Given the description of an element on the screen output the (x, y) to click on. 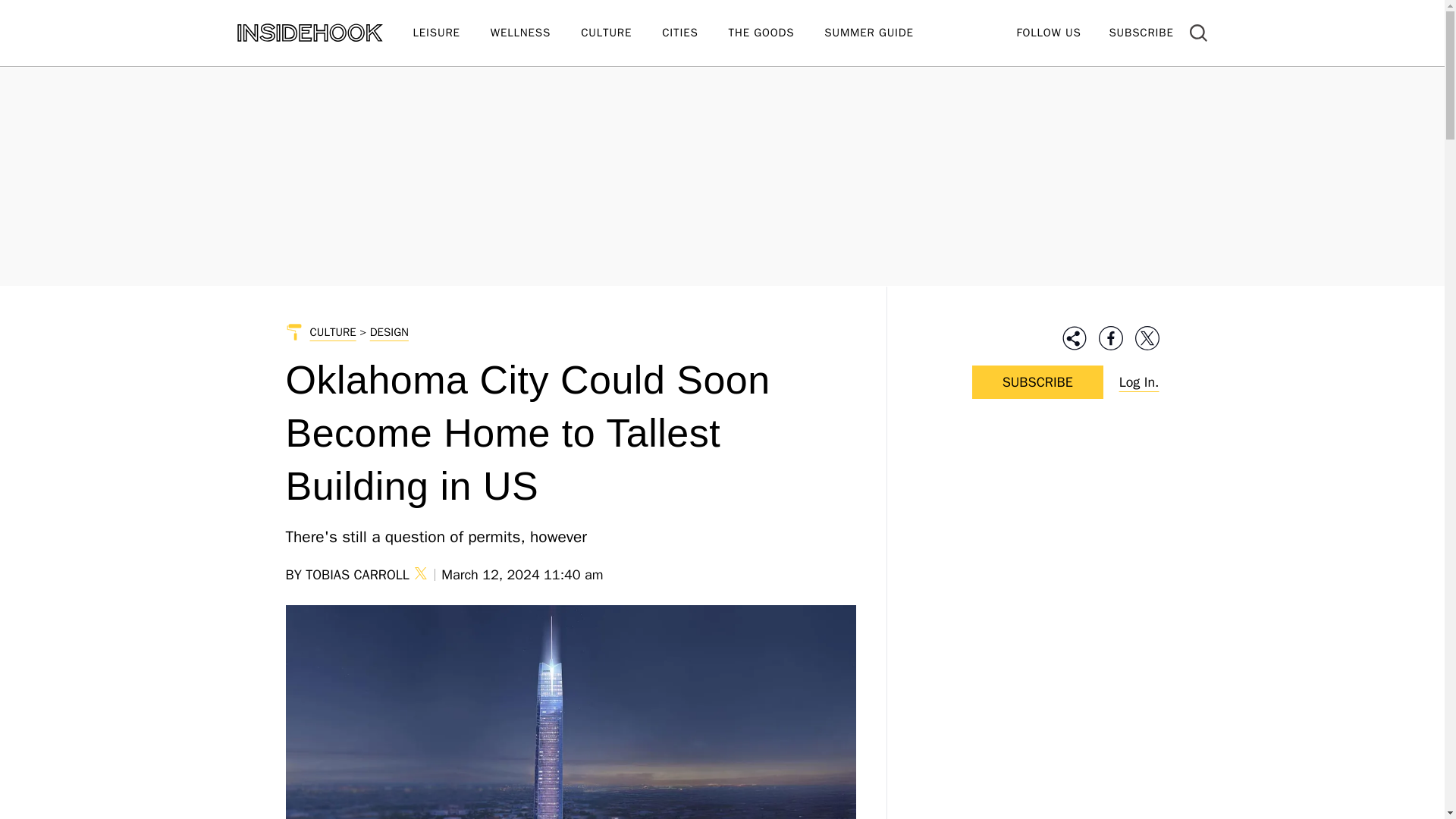
SUBSCRIBE (1140, 32)
LEISURE (450, 32)
THE GOODS (777, 32)
CULTURE (621, 32)
CITIES (695, 32)
SUMMER GUIDE (883, 32)
WELLNESS (535, 32)
FOLLOW US (1048, 32)
